Given the description of an element on the screen output the (x, y) to click on. 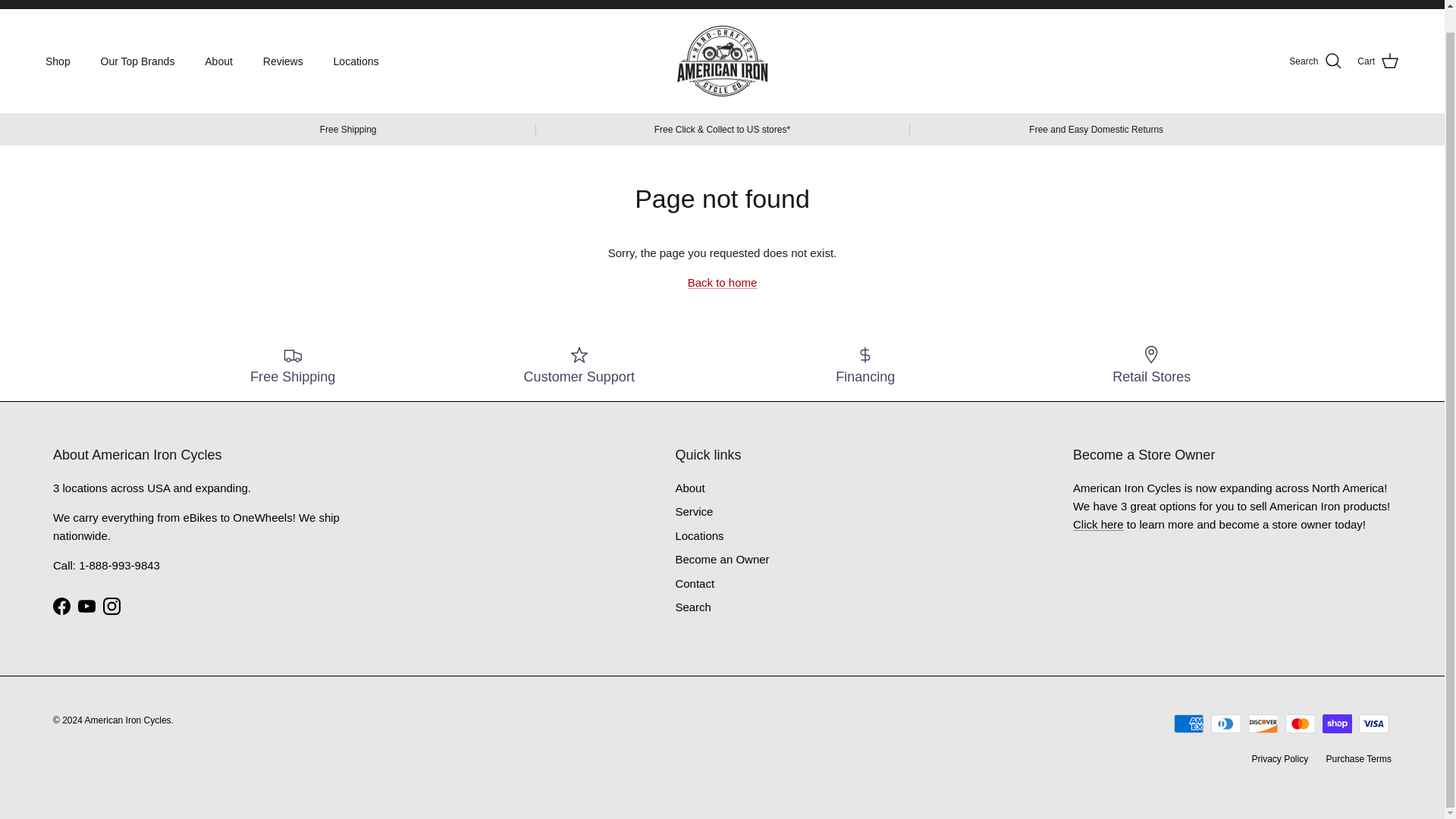
Shop Pay (1337, 723)
Contact (1268, 3)
Our Top Brands (138, 61)
Diners Club (1225, 723)
Search (1315, 61)
Become an Owner (1098, 523)
American Express (1188, 723)
American Iron Cycles on Facebook (60, 606)
Shop (58, 61)
About (218, 61)
